Given the description of an element on the screen output the (x, y) to click on. 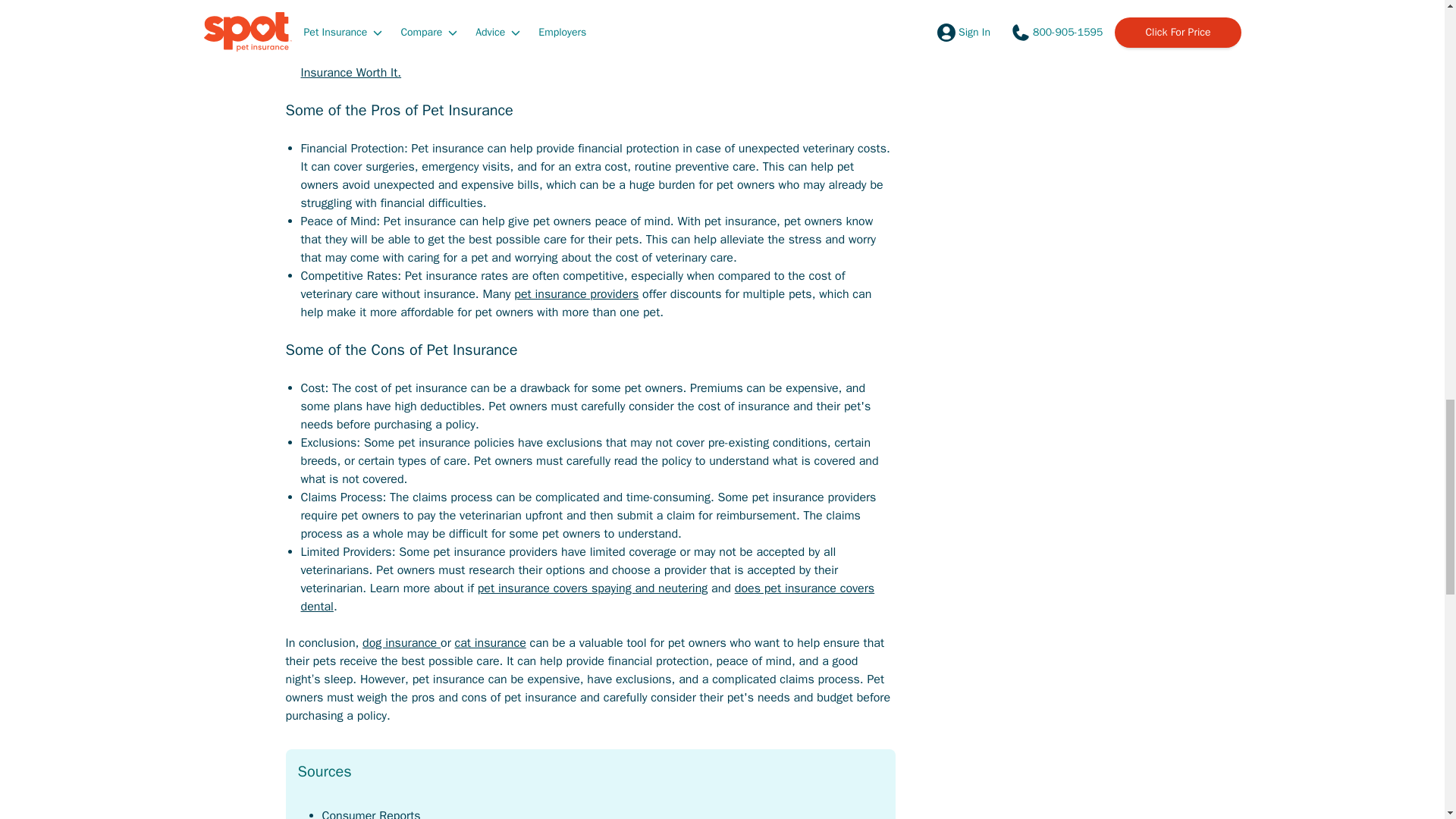
is Pet Insurance Worth It. (596, 63)
